Given the description of an element on the screen output the (x, y) to click on. 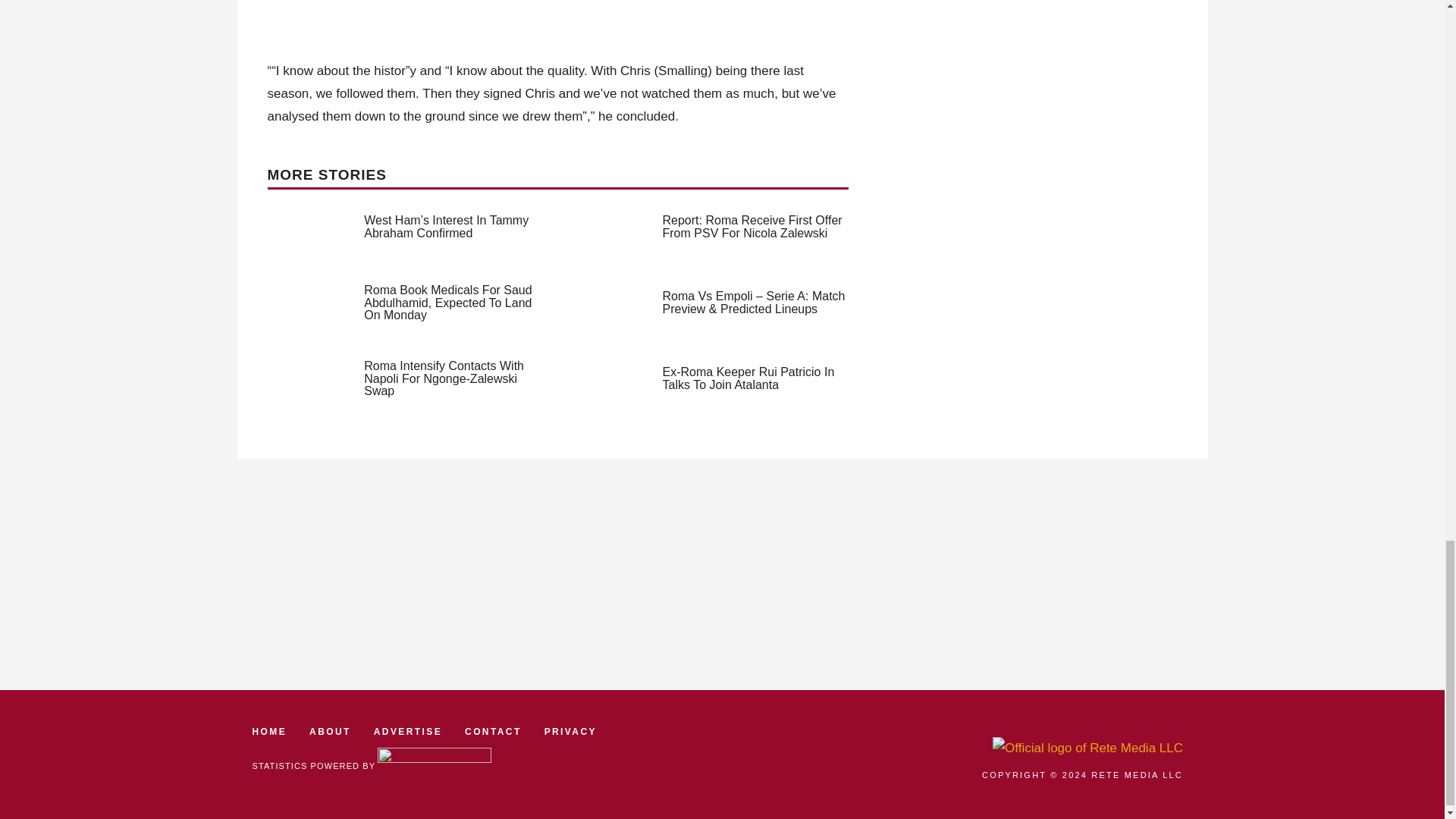
HOME (268, 731)
Ex-Roma Keeper Rui Patricio In Talks To Join Atalanta (748, 378)
Roma Intensify Contacts With Napoli For Ngonge-Zalewski Swap (444, 378)
PRIVACY (570, 731)
ADVERTISE (408, 731)
ABOUT (329, 731)
CONTACT (492, 731)
